Given the description of an element on the screen output the (x, y) to click on. 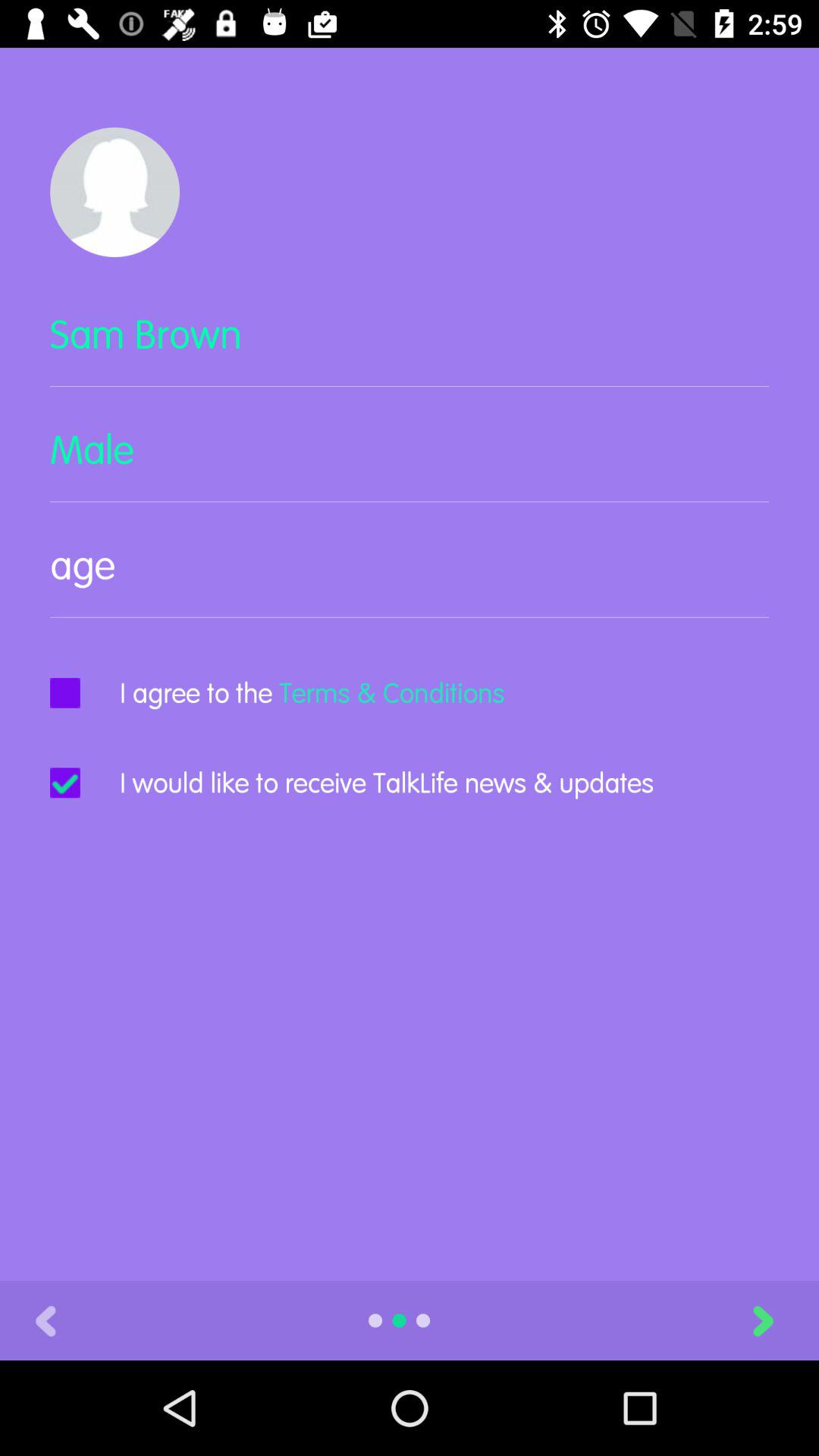
turn on item at the bottom left corner (45, 1320)
